Given the description of an element on the screen output the (x, y) to click on. 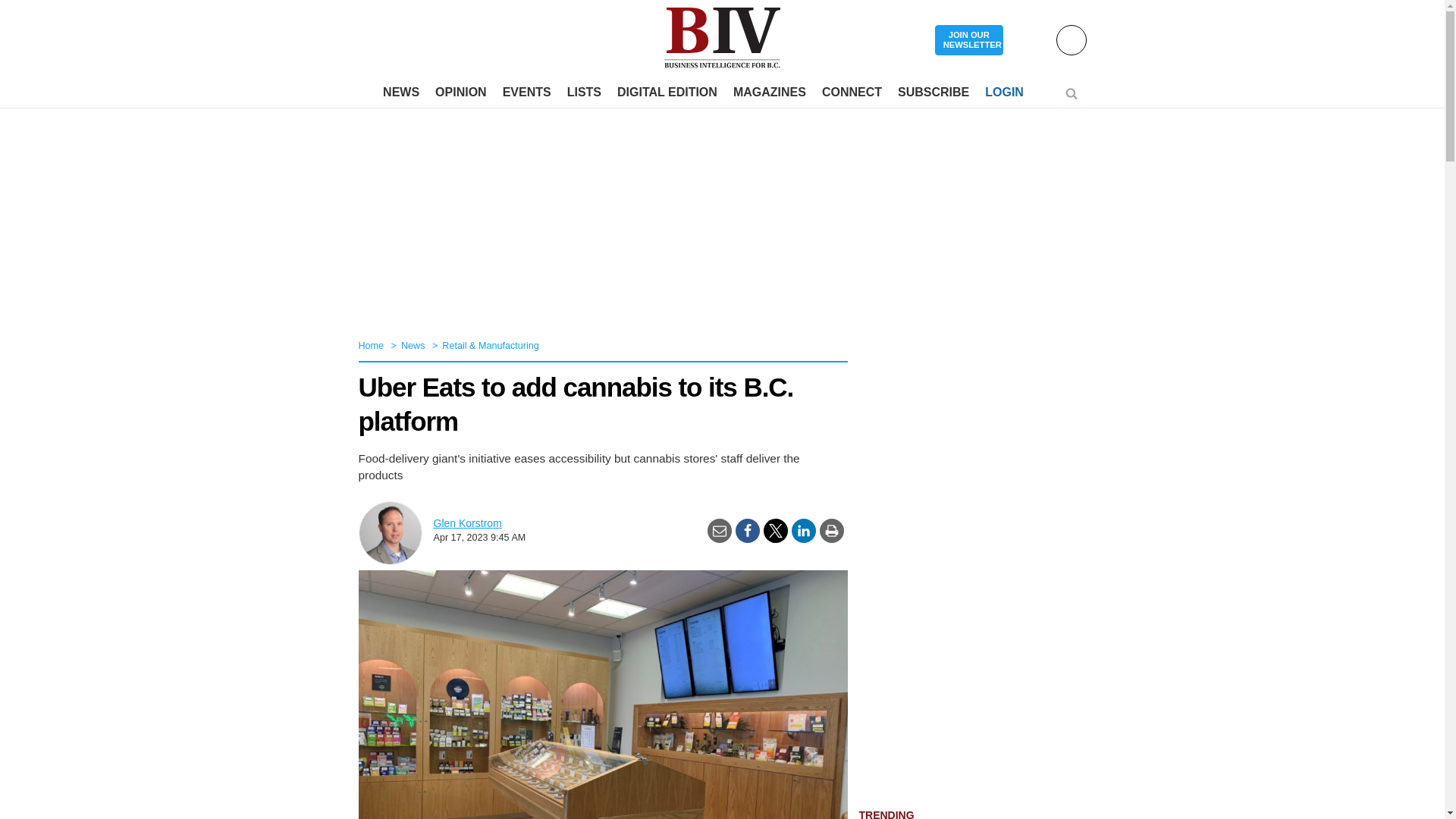
EVENTS (526, 92)
OPINION (461, 92)
LISTS (583, 92)
SUBSCRIBE (933, 92)
NEWS (401, 92)
DIGITAL EDITION (667, 92)
LOGIN (1003, 92)
MAGAZINES (769, 92)
JOIN OUR NEWSLETTER (968, 40)
